Given the description of an element on the screen output the (x, y) to click on. 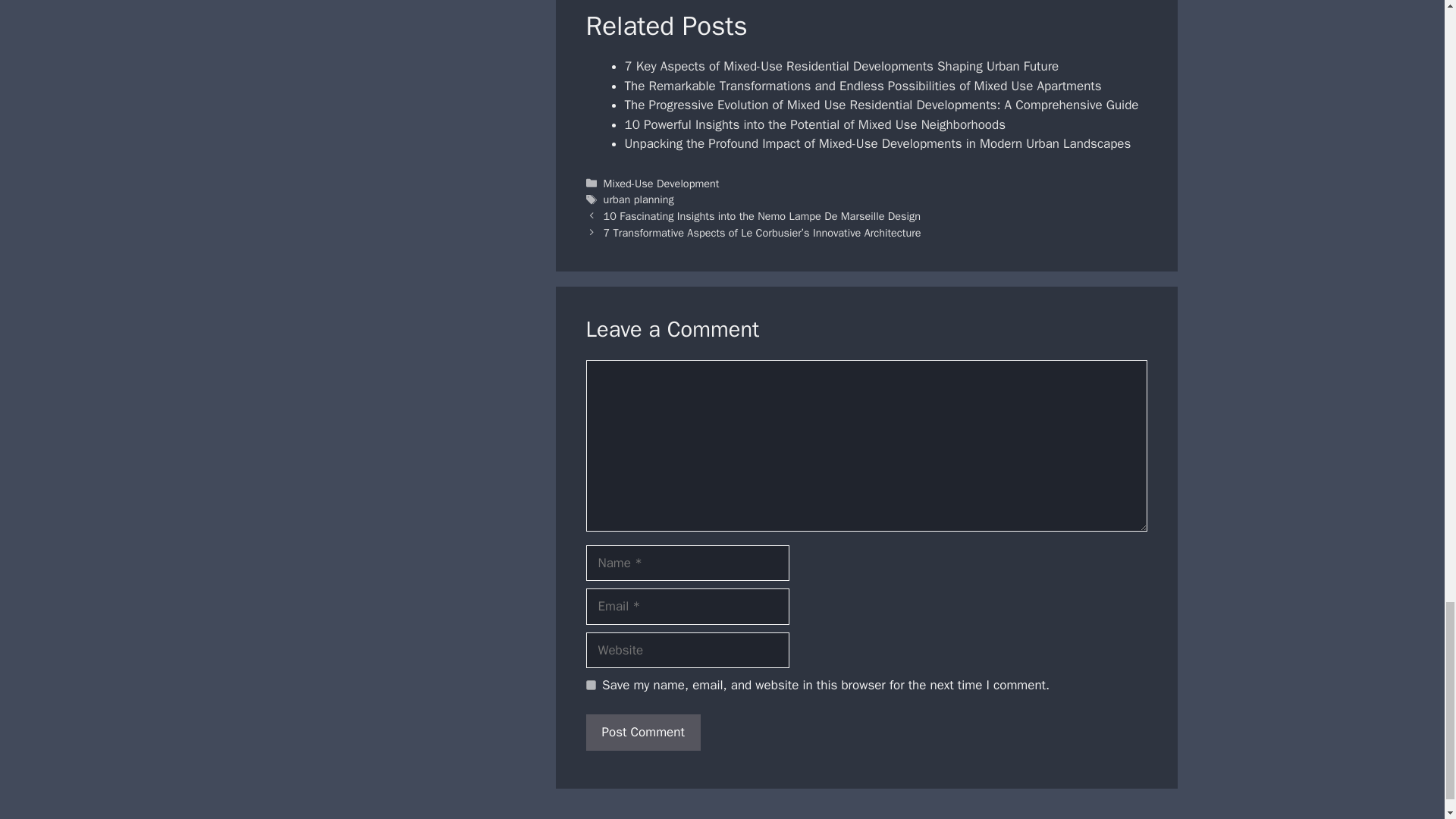
Mixed-Use Development (661, 183)
urban planning (639, 199)
Post Comment (642, 732)
yes (590, 685)
Post Comment (642, 732)
